Given the description of an element on the screen output the (x, y) to click on. 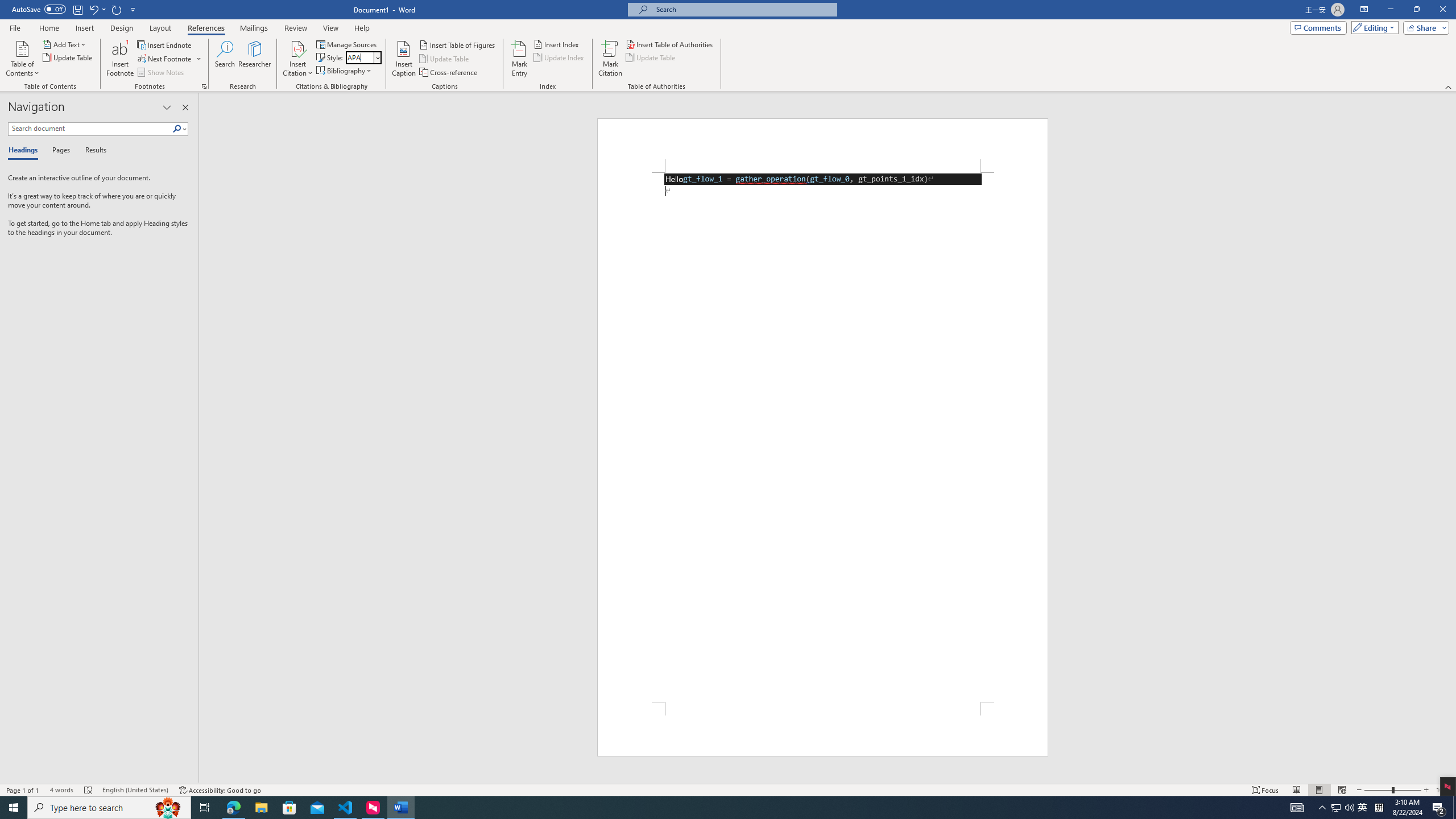
Help (361, 28)
Bibliography (344, 69)
Comments (1318, 27)
Ribbon Display Options (1364, 9)
Insert Table of Figures... (458, 44)
Web Layout (1342, 790)
Insert Footnote (119, 58)
Restore Down (1416, 9)
Microsoft search (742, 9)
Customize Quick Access Toolbar (133, 9)
Researcher (254, 58)
Undo Underline Style (92, 9)
Results (91, 150)
View (330, 28)
Read Mode (1296, 790)
